Given the description of an element on the screen output the (x, y) to click on. 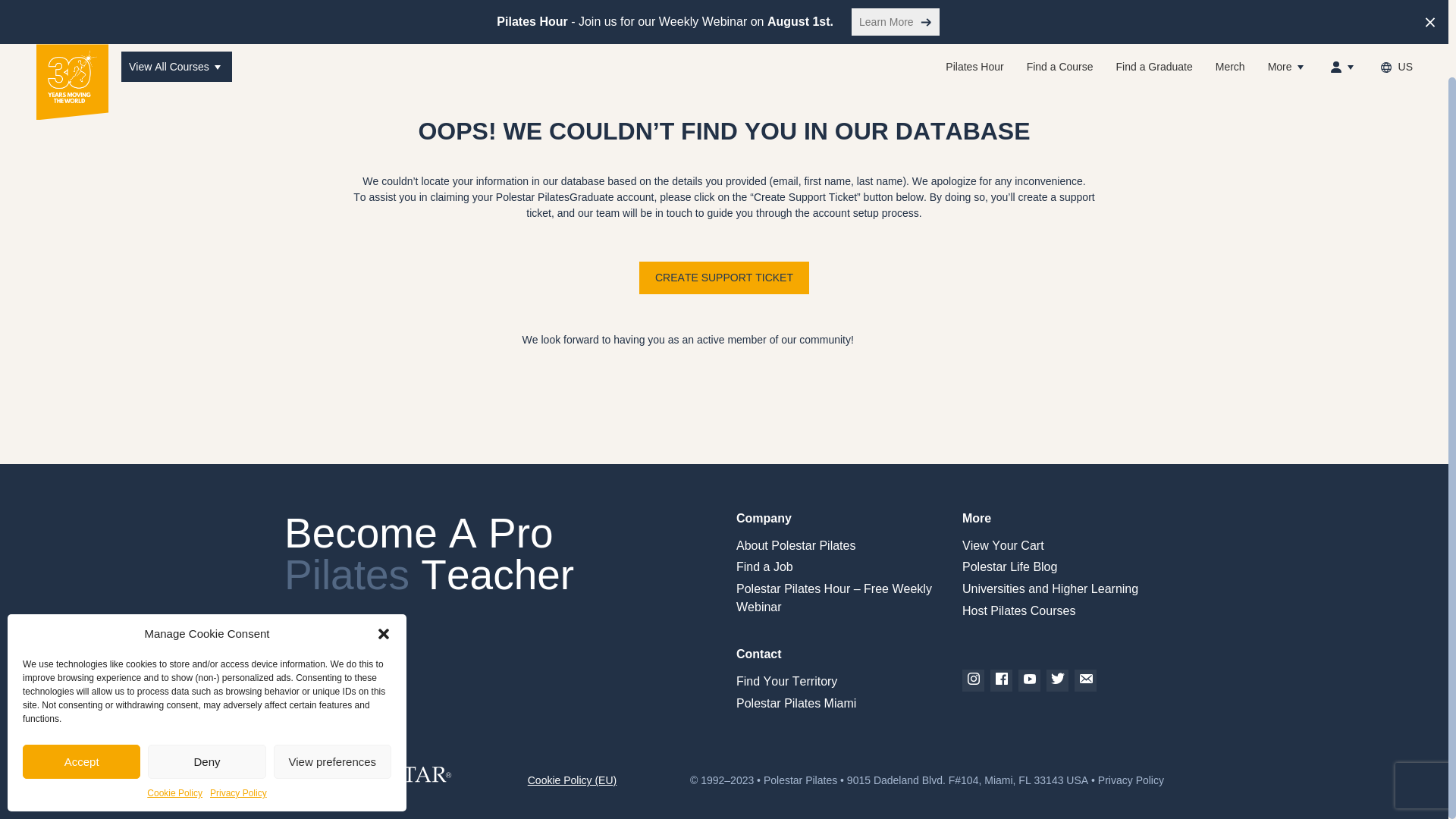
Deny (206, 675)
View preferences (332, 675)
Privacy Policy (237, 707)
Accept (81, 675)
Cookie Policy (174, 707)
